Given the description of an element on the screen output the (x, y) to click on. 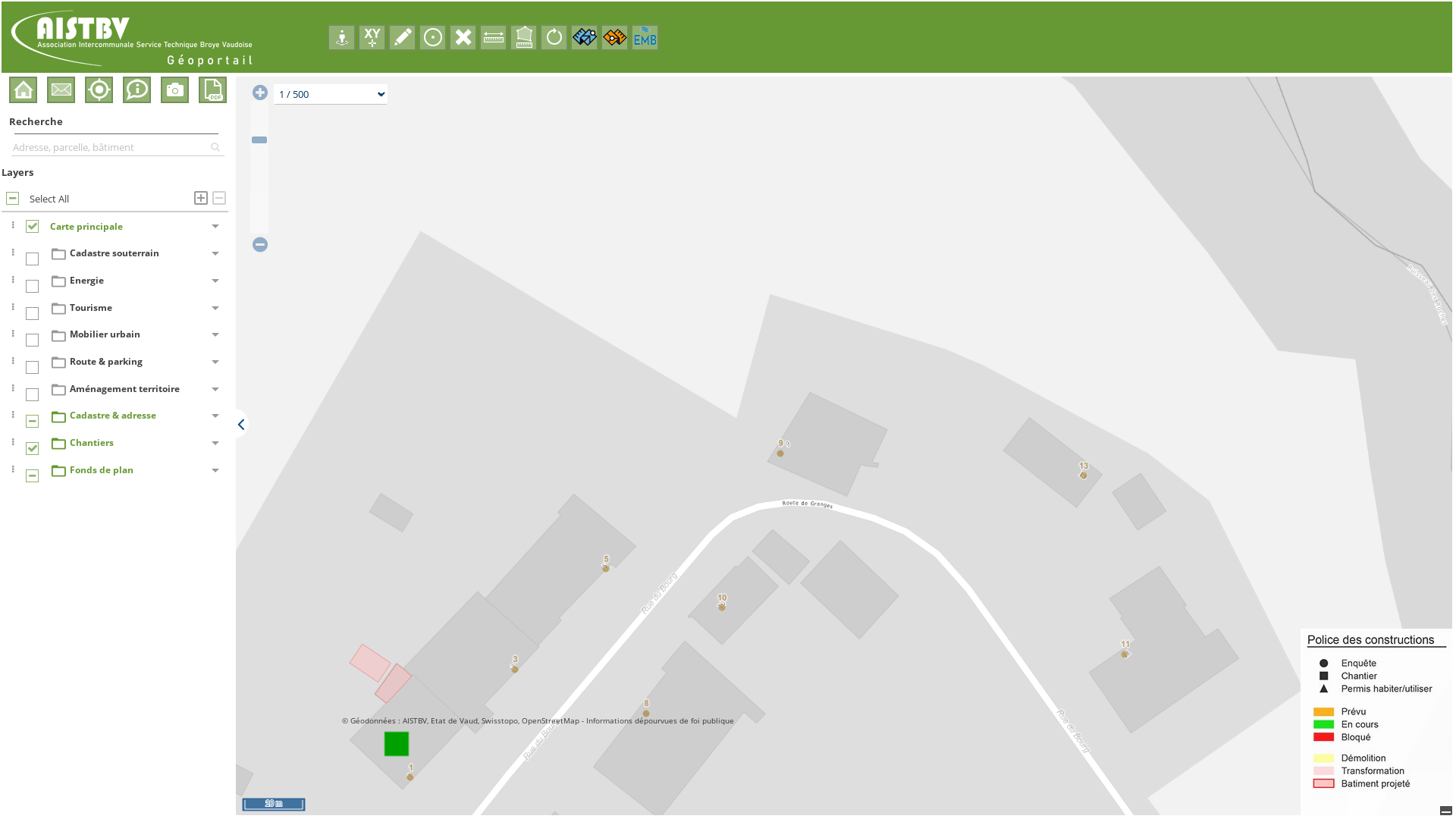
Portail EMB Element type: hover (644, 37)
PDF printing Element type: hover (212, 89)
Coordinates Element type: hover (371, 37)
Contact Element type: hover (61, 89)
Infobulle Element type: hover (136, 89)
Shows the user's current location on the map Element type: hover (98, 89)
viageo.ch Element type: hover (584, 37)
Measure an area Element type: hover (523, 37)
Reset Element type: hover (553, 37)
Create circles Element type: hover (432, 37)
Manage annotations on the map Element type: hover (402, 37)
Delete vector features Element type: hover (462, 37)
plans-reseaux.ch Element type: hover (614, 37)
aistbv.ch Element type: hover (23, 89)
Street view Element type: hover (341, 37)
Screenshot Element type: hover (174, 89)
Measure a distance Element type: hover (493, 37)
